Given the description of an element on the screen output the (x, y) to click on. 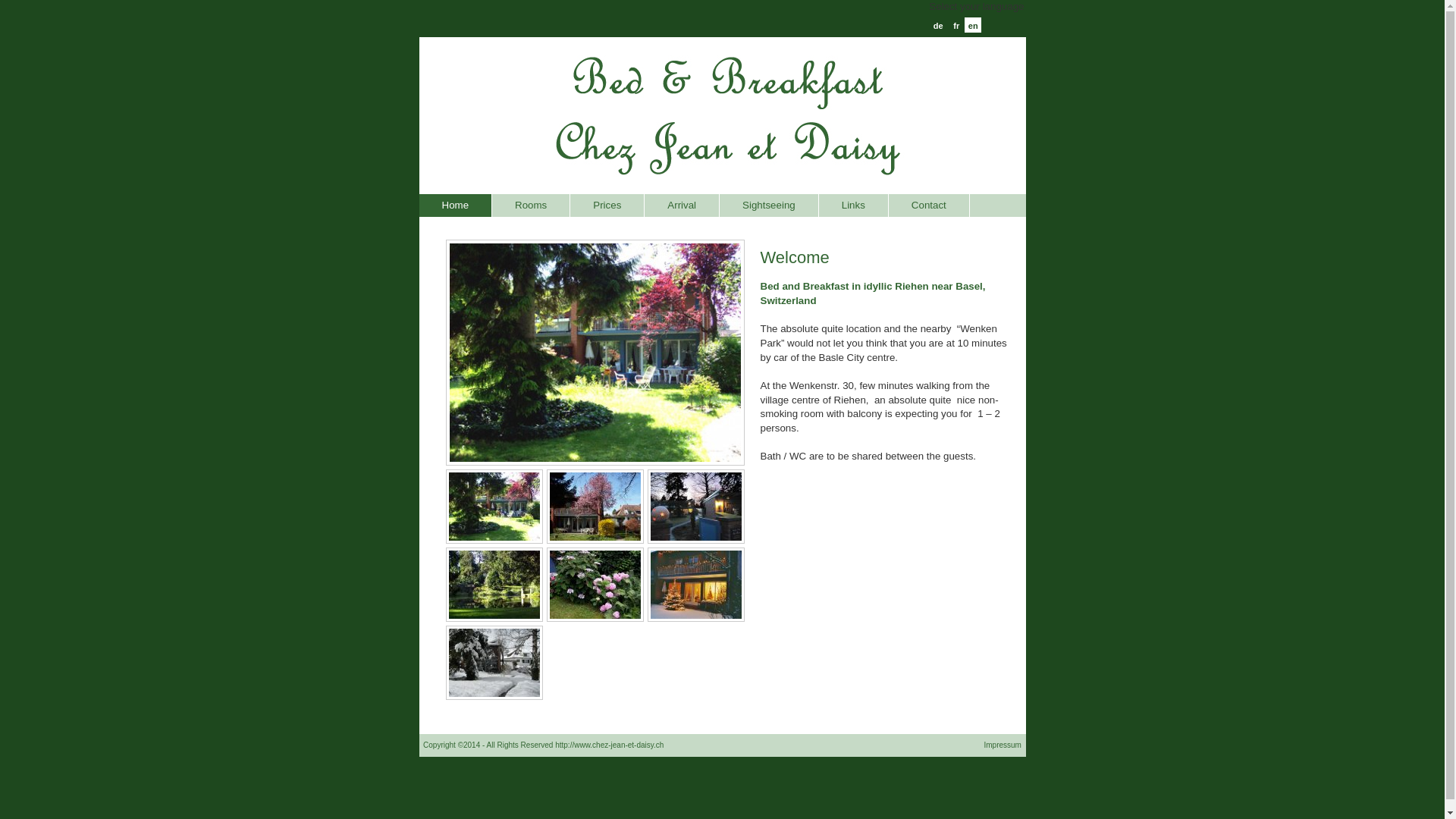
Contact Element type: text (928, 205)
Prices Element type: text (607, 205)
en Element type: text (972, 24)
Impressum   Element type: text (1004, 744)
Sightseeing Element type: text (769, 205)
http://www.chez-jean-et-daisy.ch Element type: text (609, 744)
Home Element type: text (455, 205)
Links Element type: text (853, 205)
Arrival Element type: text (681, 205)
fr Element type: text (955, 24)
de Element type: text (937, 24)
Rooms Element type: text (531, 205)
